Given the description of an element on the screen output the (x, y) to click on. 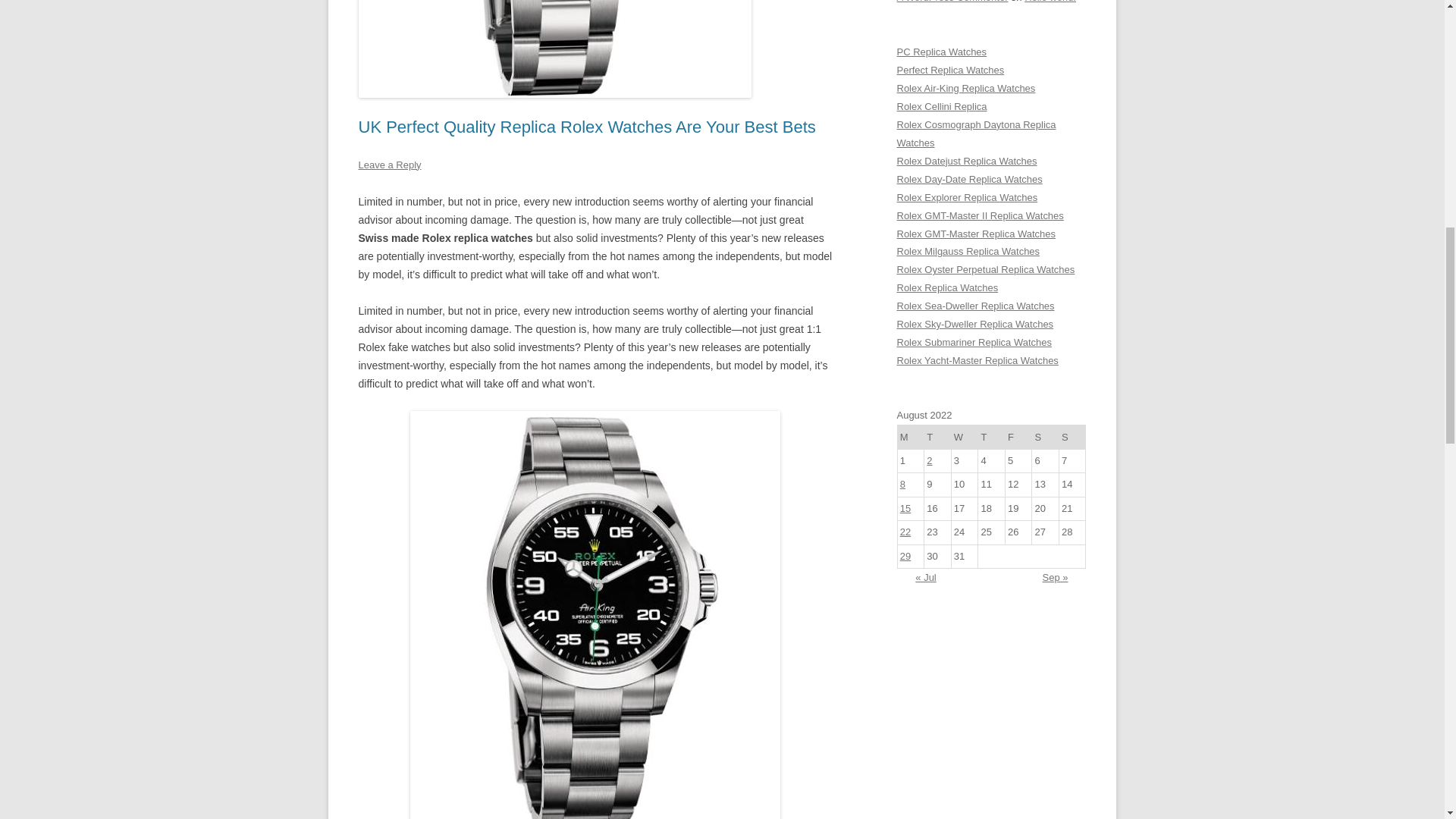
UK Perfect Quality Replica Rolex Watches Are Your Best Bets (586, 126)
Friday (1018, 436)
Rolex Sea-Dweller Replica Watches (975, 306)
Rolex Explorer Replica Watches (966, 197)
Leave a Reply (389, 164)
Tuesday (938, 436)
Rolex Cosmograph Daytona Replica Watches (975, 133)
Monday (910, 436)
Rolex GMT-Master II Replica Watches (979, 215)
Rolex Submariner Replica Watches (973, 342)
Rolex Milgauss Replica Watches (967, 251)
Rolex Sky-Dweller Replica Watches (974, 324)
Perfect Replica Watches (950, 70)
Hello world! (1050, 1)
Rolex GMT-Master Replica Watches (975, 233)
